Given the description of an element on the screen output the (x, y) to click on. 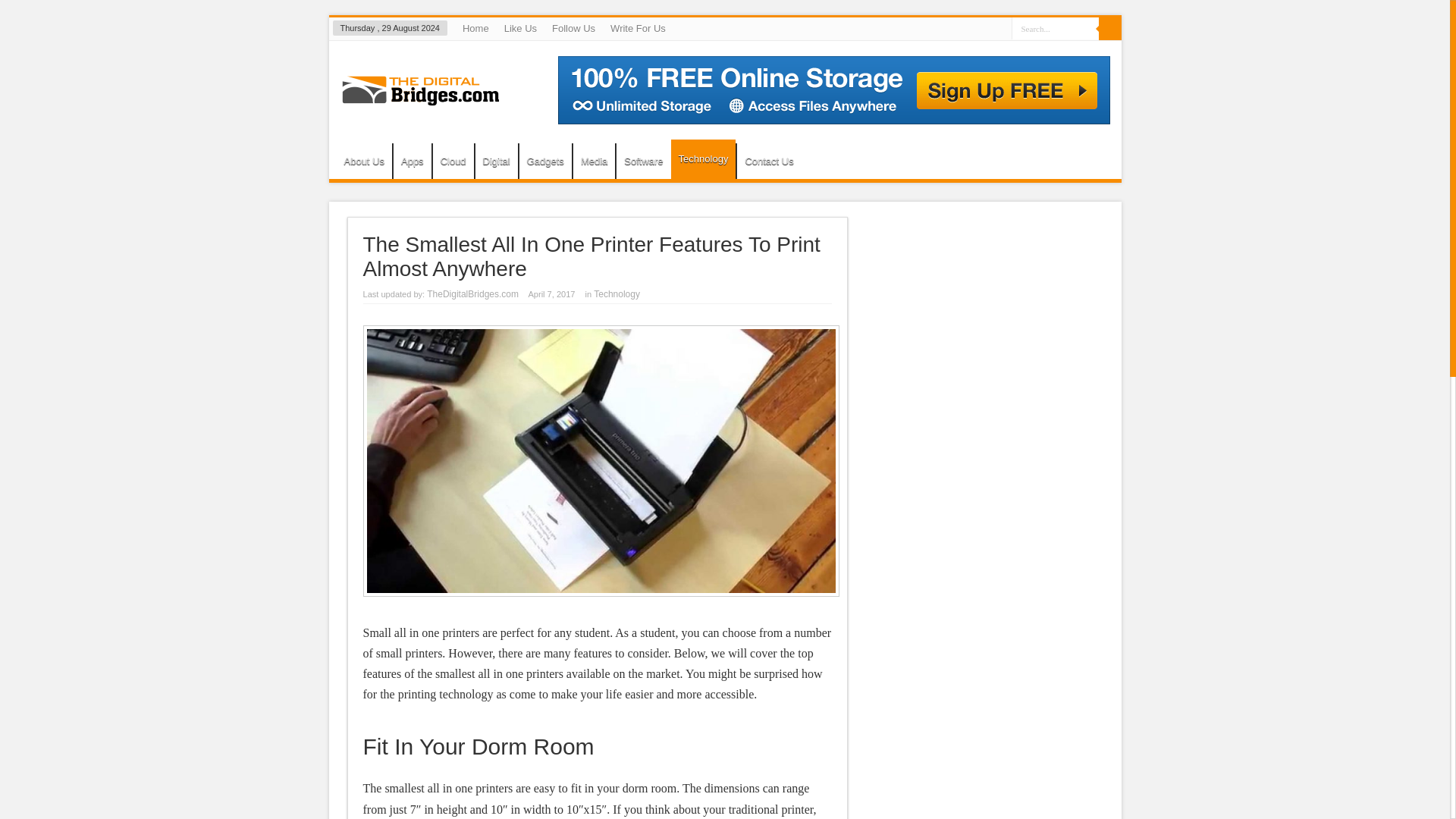
Write For Us (637, 28)
Digital (496, 161)
Gadgets (545, 161)
Search... (1055, 28)
The Digital Bridges (419, 94)
Home (475, 28)
Follow Us (573, 28)
Software (642, 161)
TheDigitalBridges.com (472, 294)
About Us (363, 161)
